Given the description of an element on the screen output the (x, y) to click on. 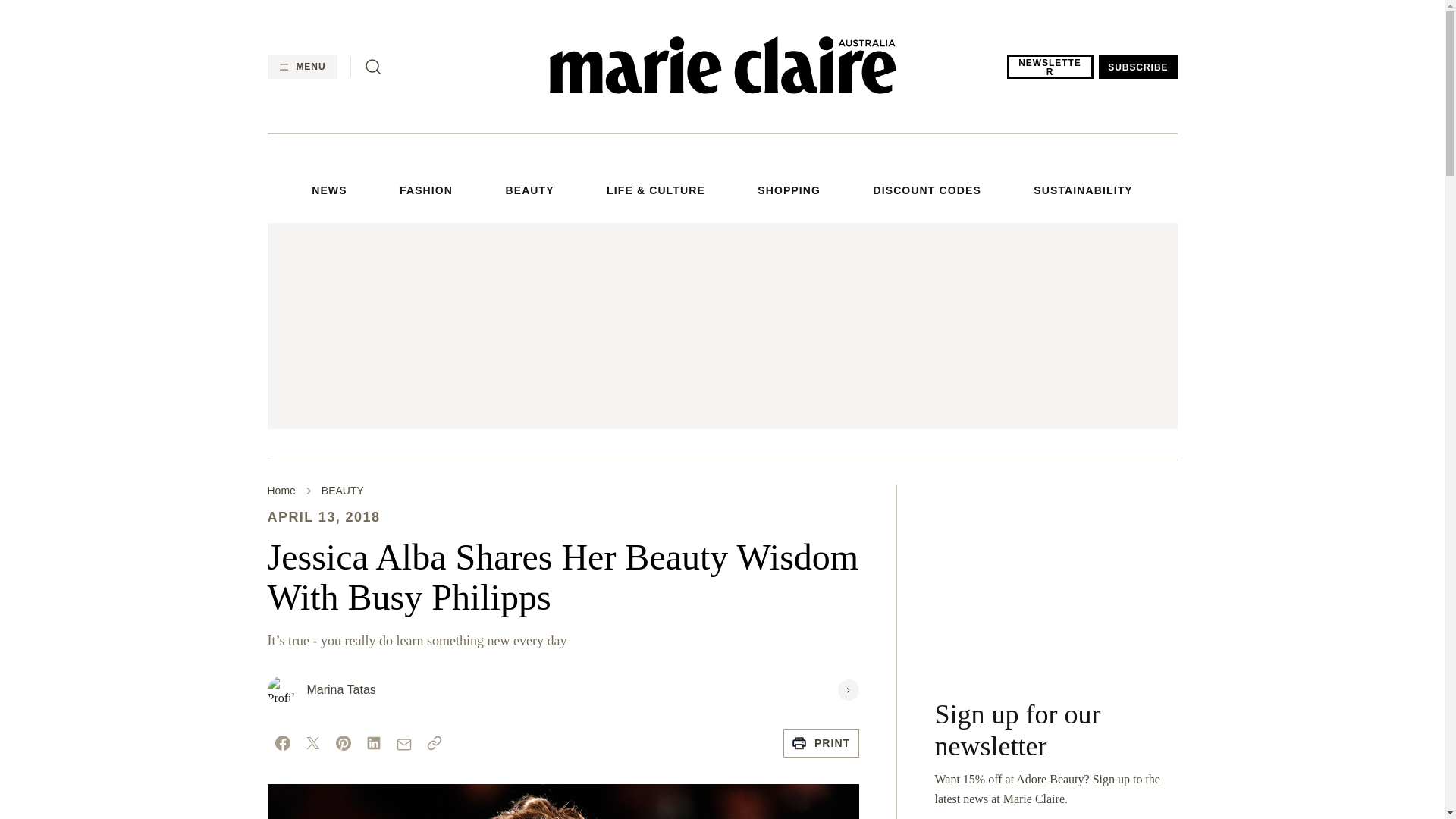
NEWSLETTER (1050, 66)
SUSTAINABILITY (1082, 190)
FASHION (425, 190)
SHOPPING (789, 190)
BEAUTY (529, 190)
SUBSCRIBE (1137, 66)
MENU (301, 66)
DISCOUNT CODES (925, 190)
NEWS (328, 190)
